Given the description of an element on the screen output the (x, y) to click on. 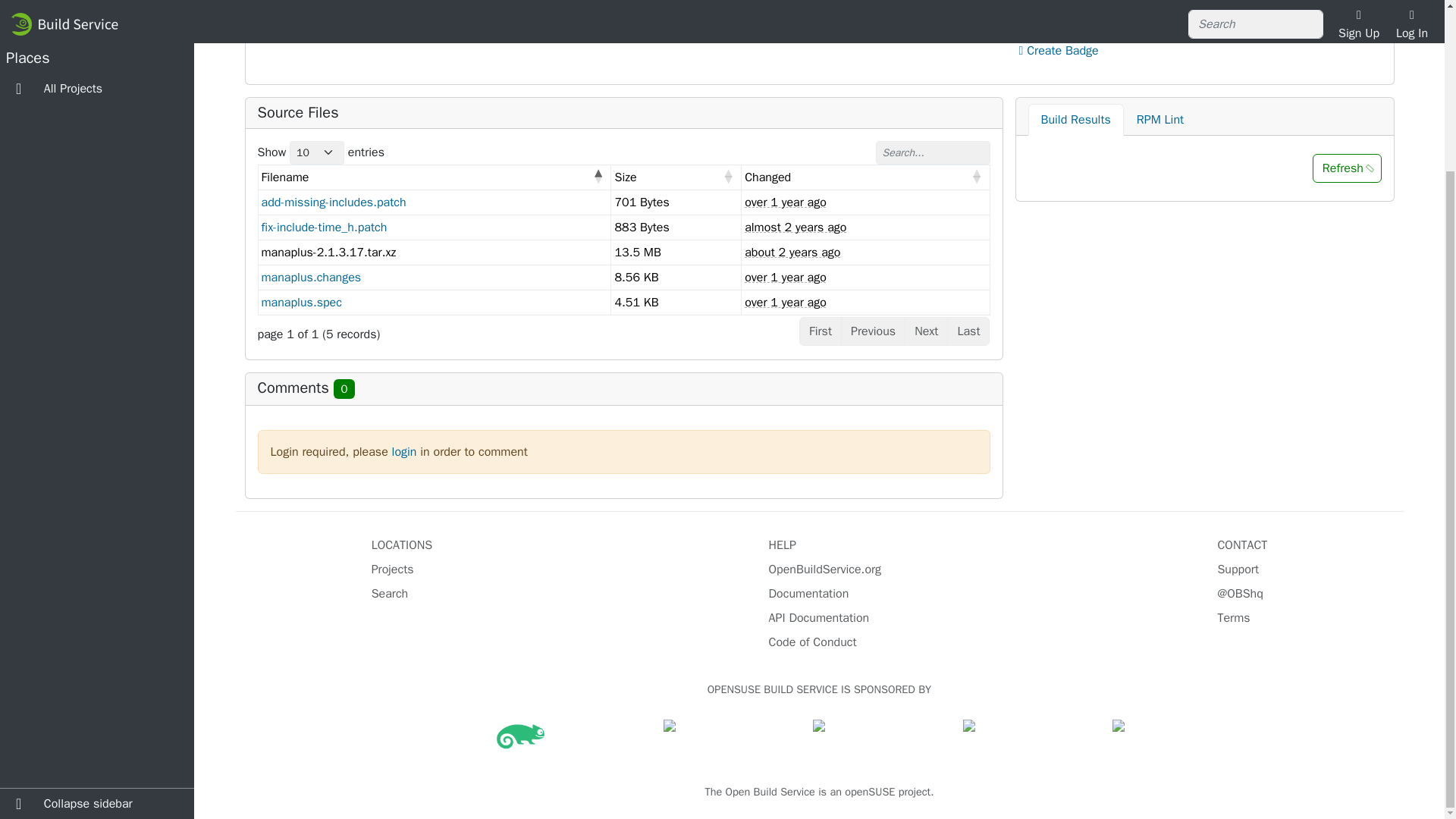
Refresh Build Results (1347, 167)
2022-09-06 10:04 UTC (794, 227)
Download package (1075, 14)
login (403, 451)
manaplus.changes (310, 277)
API Documentation (818, 617)
2023-04-10 21:57 UTC (785, 302)
Create Badge (1059, 50)
derived packages (1084, 2)
Collapse sidebar (96, 598)
First (820, 330)
add-missing-includes.patch (333, 201)
manaplus.spec (300, 302)
Next (925, 330)
Checkout Package (1071, 32)
